Given the description of an element on the screen output the (x, y) to click on. 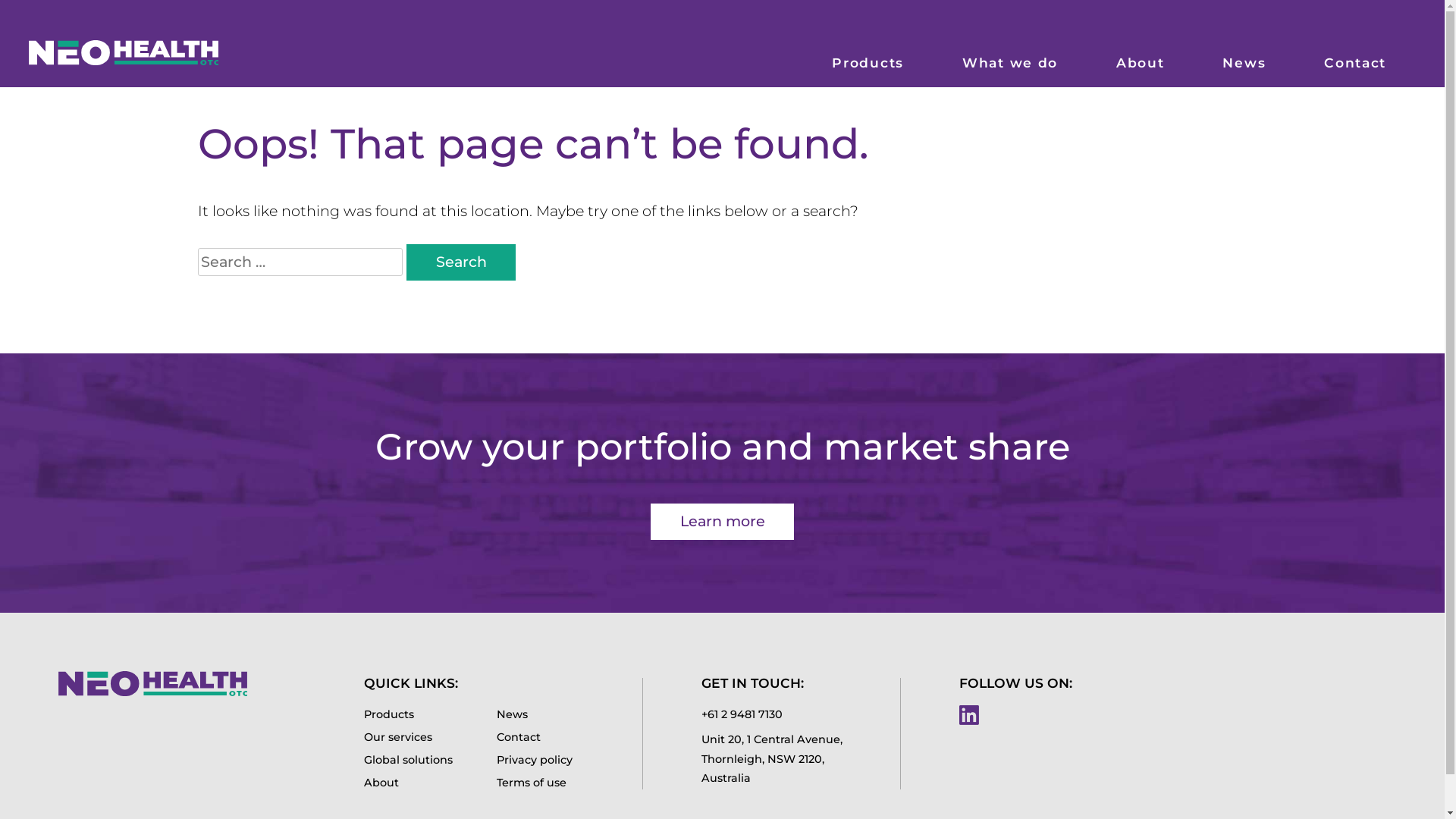
Privacy policy Element type: text (540, 760)
Terms of use Element type: text (540, 783)
What we do Element type: text (1010, 55)
Search Element type: text (460, 262)
About Element type: text (408, 783)
News Element type: text (540, 714)
Our services Element type: text (408, 737)
Products Element type: text (868, 55)
Contact Element type: text (1355, 55)
Products Element type: text (408, 714)
Global solutions Element type: text (408, 760)
Learn more Element type: text (721, 521)
Contact Element type: text (540, 737)
About Element type: text (1140, 55)
News Element type: text (1244, 55)
